Given the description of an element on the screen output the (x, y) to click on. 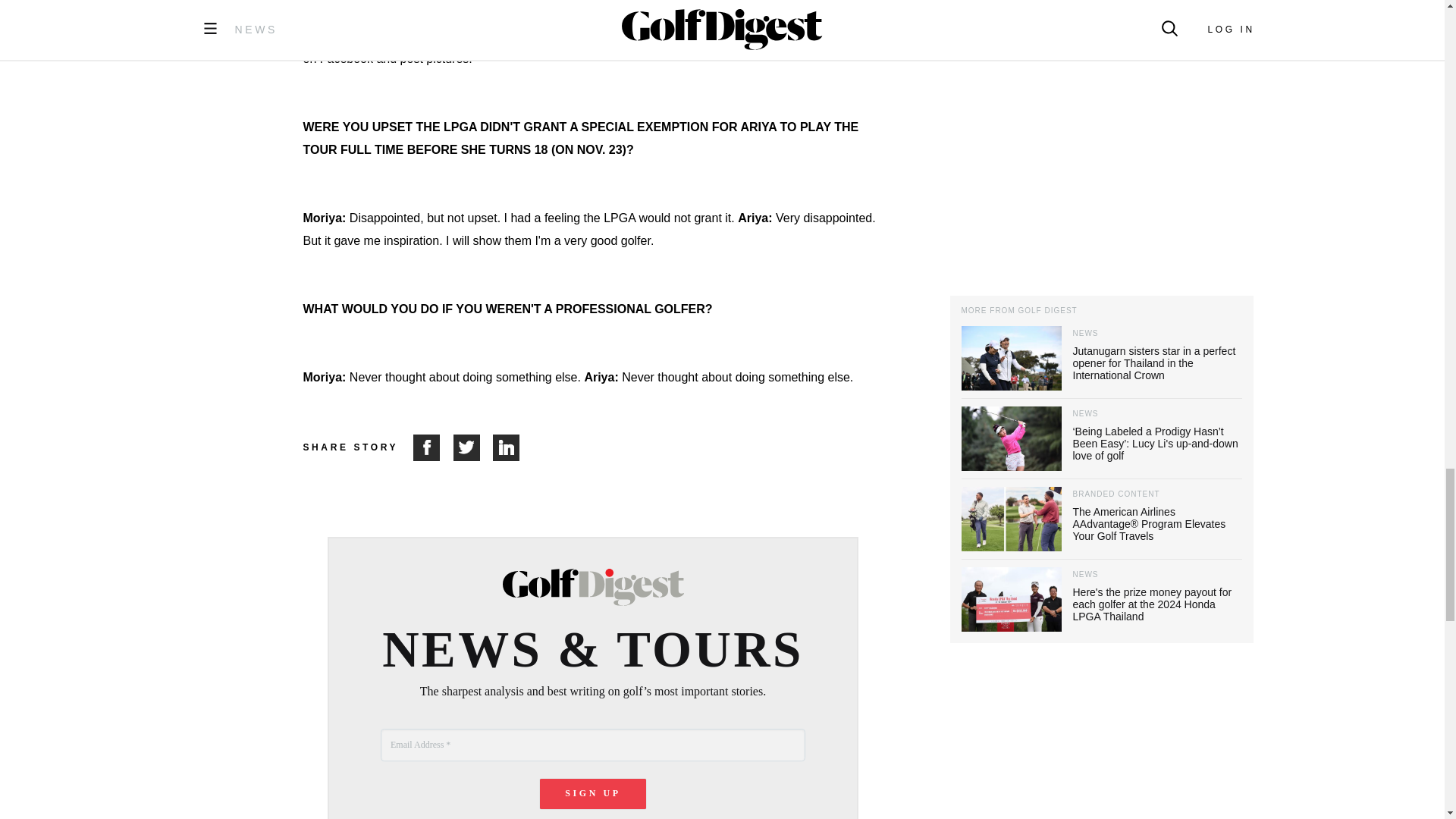
Share on Facebook (432, 447)
Share on Twitter (472, 447)
Share on LinkedIn (506, 447)
Sign up (593, 793)
